Given the description of an element on the screen output the (x, y) to click on. 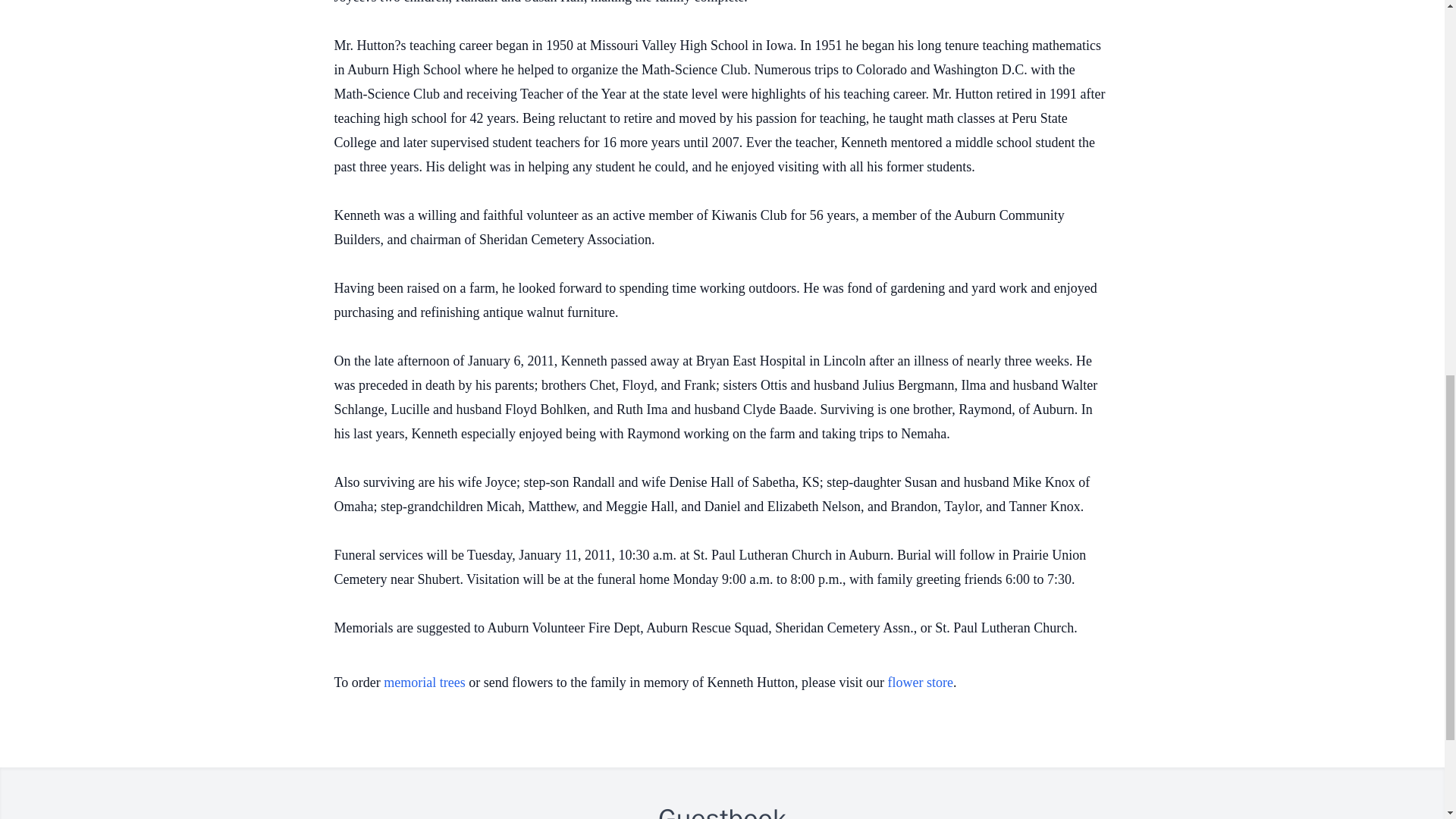
memorial trees (424, 682)
flower store (920, 682)
